Given the description of an element on the screen output the (x, y) to click on. 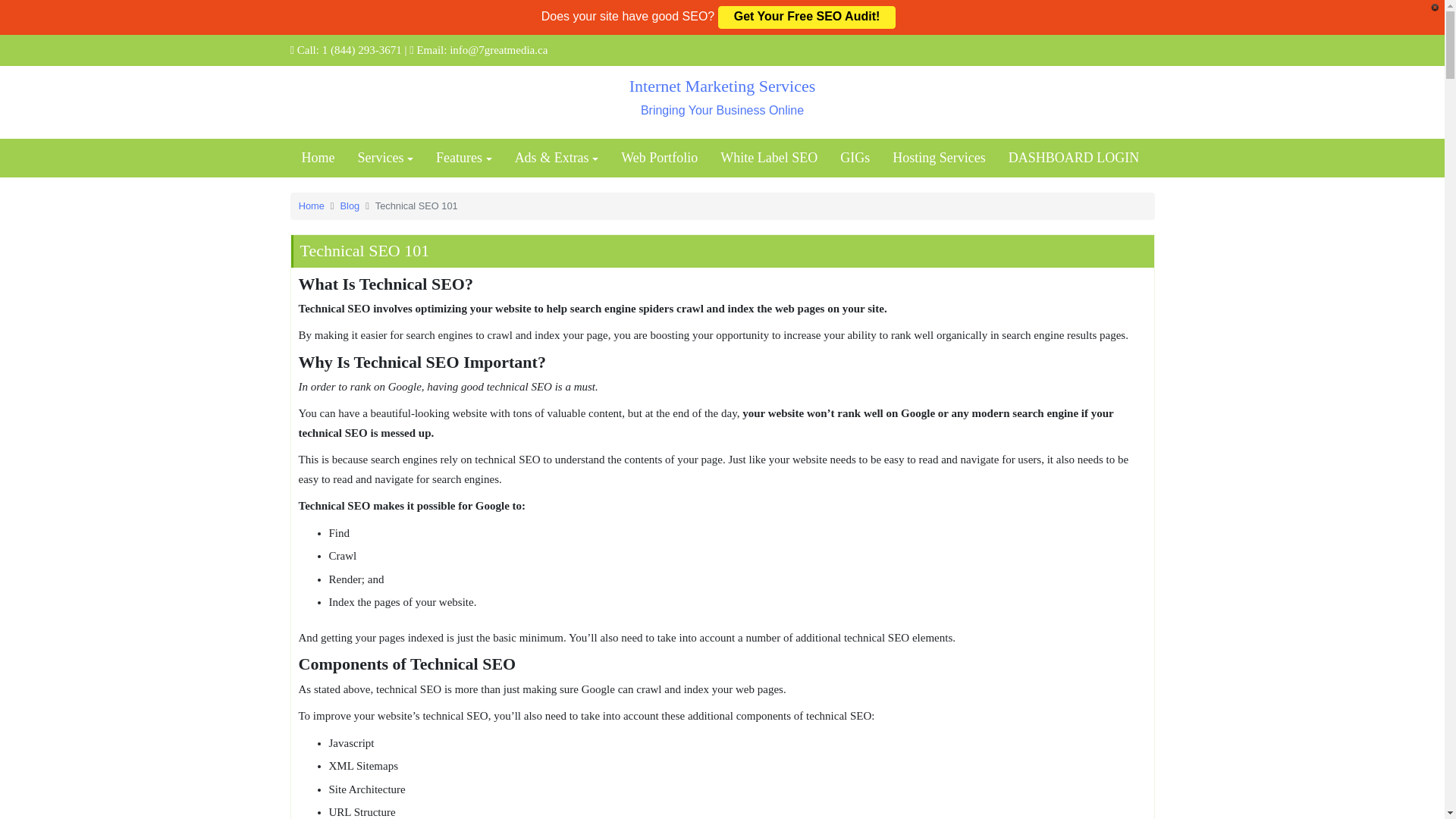
Blog (349, 205)
Hosting Services (721, 97)
Home (937, 157)
Services (311, 205)
Web Portfolio (385, 157)
Home (659, 157)
White Label SEO (317, 157)
Features (768, 157)
GIGs (464, 157)
DASHBOARD LOGIN (854, 157)
Get Your Free SEO Audit! (1074, 157)
